Given the description of an element on the screen output the (x, y) to click on. 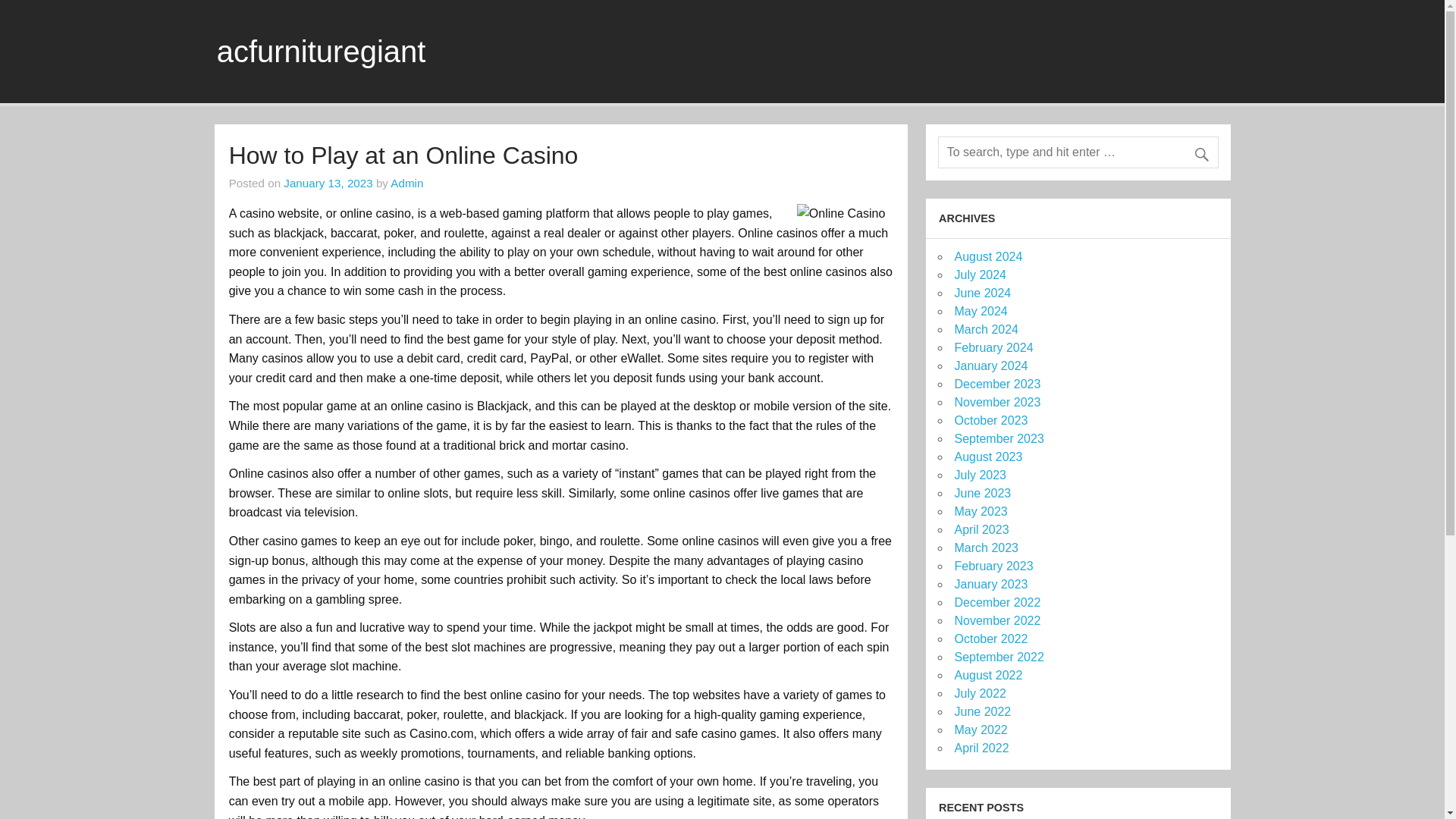
November 2023 (997, 401)
September 2022 (998, 656)
May 2022 (980, 729)
February 2024 (992, 347)
acfurnituregiant (321, 51)
April 2023 (981, 529)
June 2022 (981, 711)
December 2023 (997, 383)
November 2022 (997, 620)
August 2022 (987, 675)
